Given the description of an element on the screen output the (x, y) to click on. 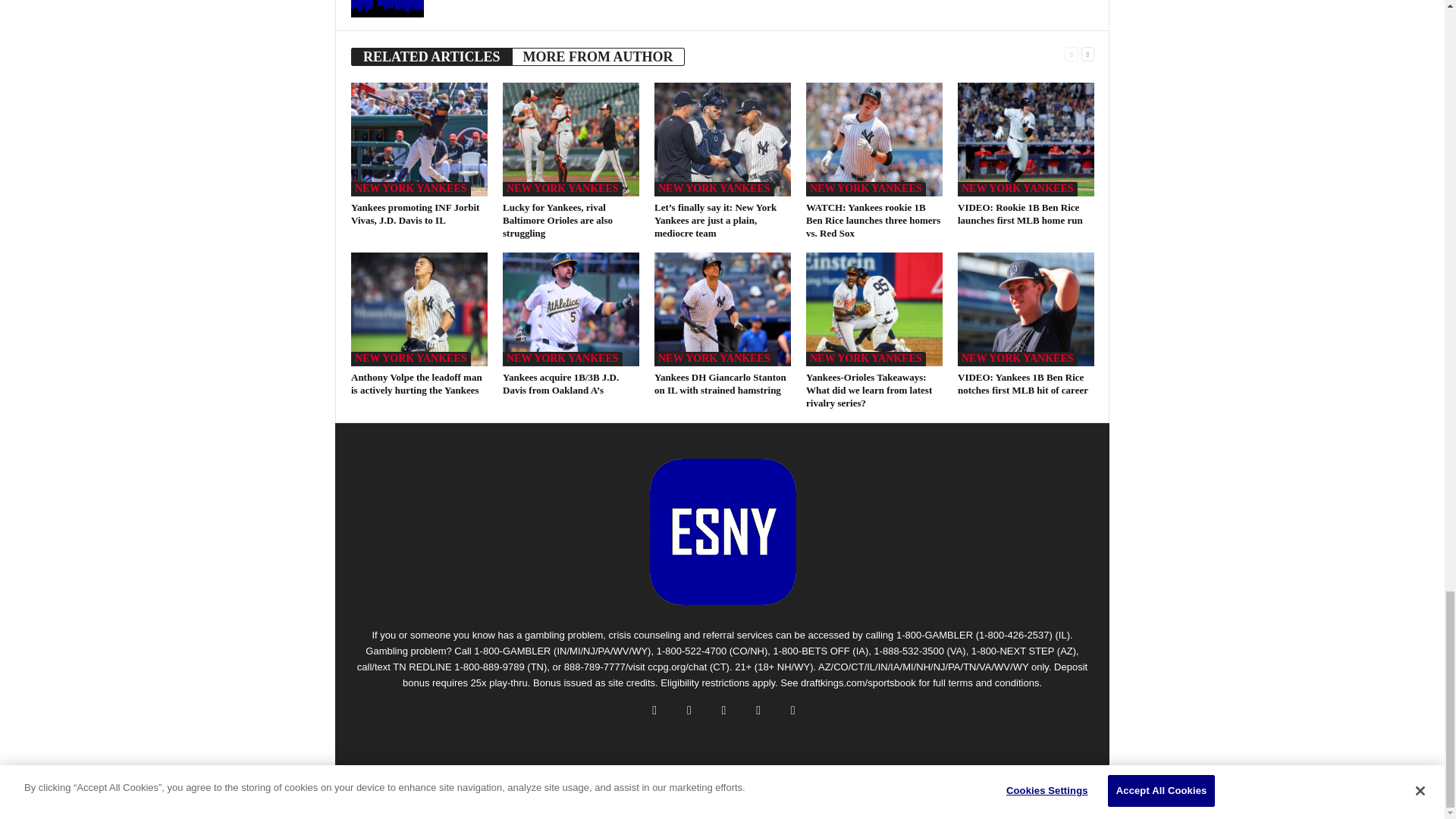
Yankees promoting INF Jorbit Vivas, J.D. Davis to IL (414, 213)
Yankees promoting INF Jorbit Vivas, J.D. Davis to IL (418, 139)
